Given the description of an element on the screen output the (x, y) to click on. 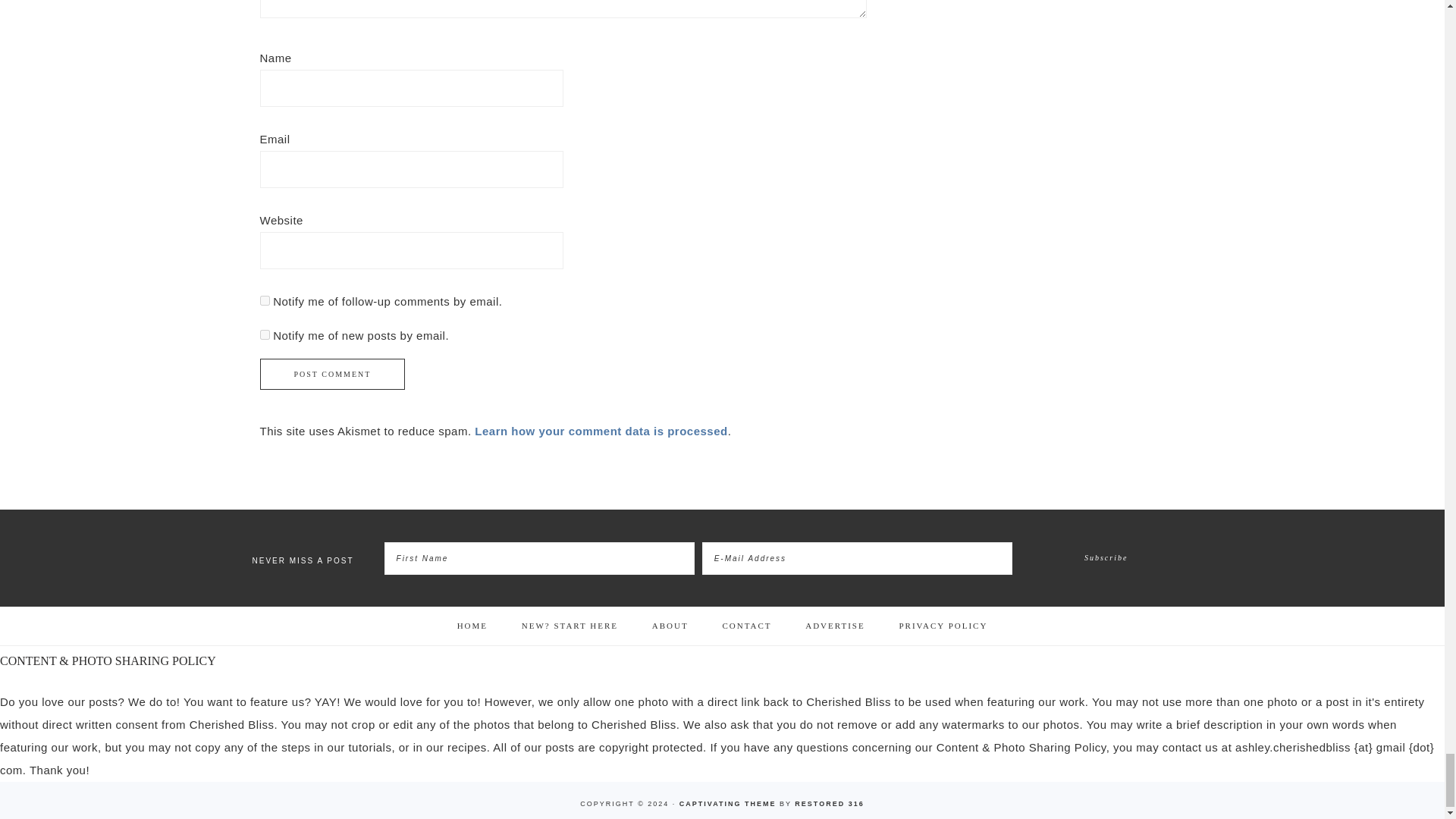
subscribe (264, 334)
subscribe (264, 300)
Post Comment (331, 373)
Subscribe (1106, 558)
